Given the description of an element on the screen output the (x, y) to click on. 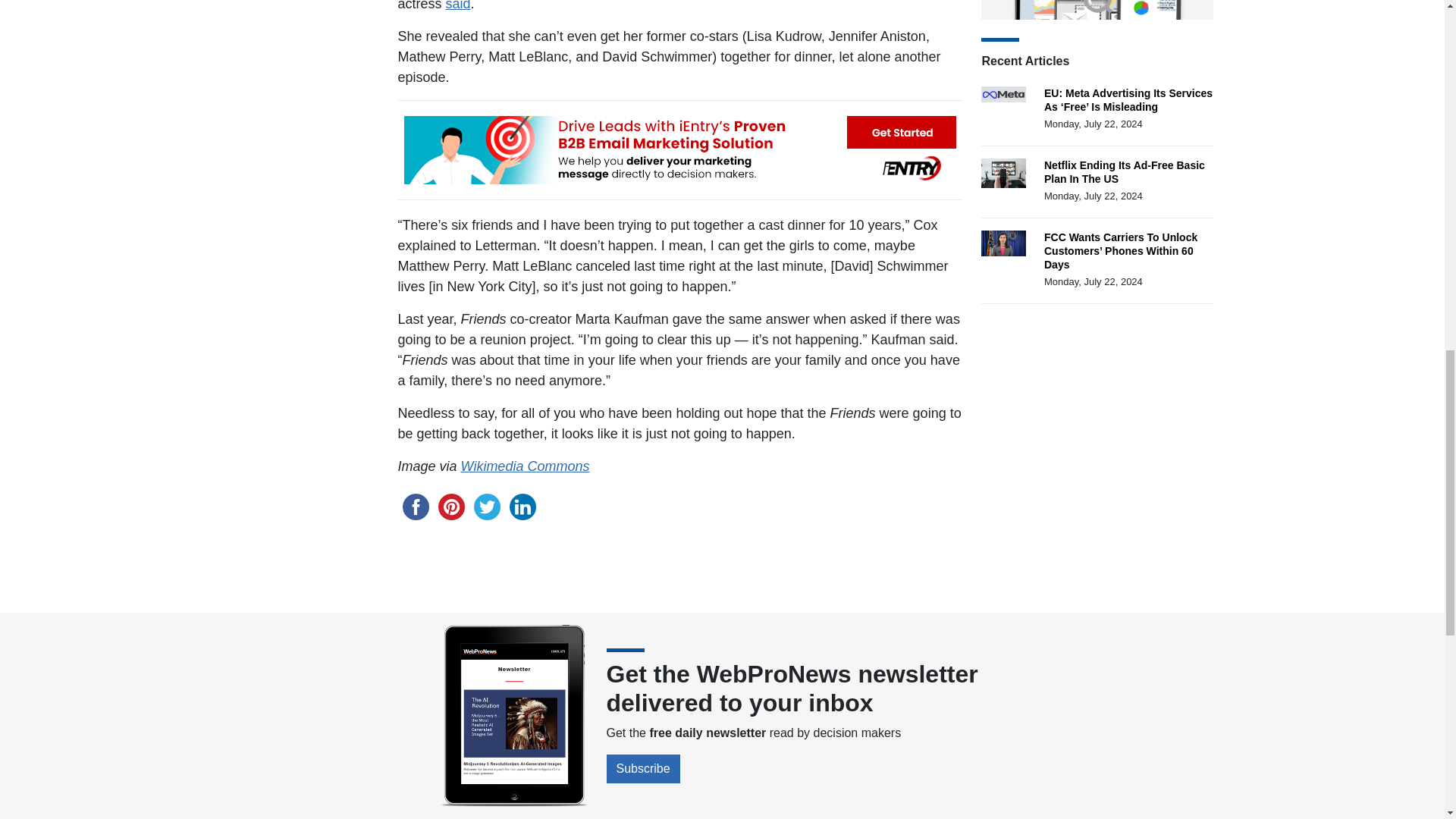
pinterest (450, 506)
facebook (414, 506)
